Given the description of an element on the screen output the (x, y) to click on. 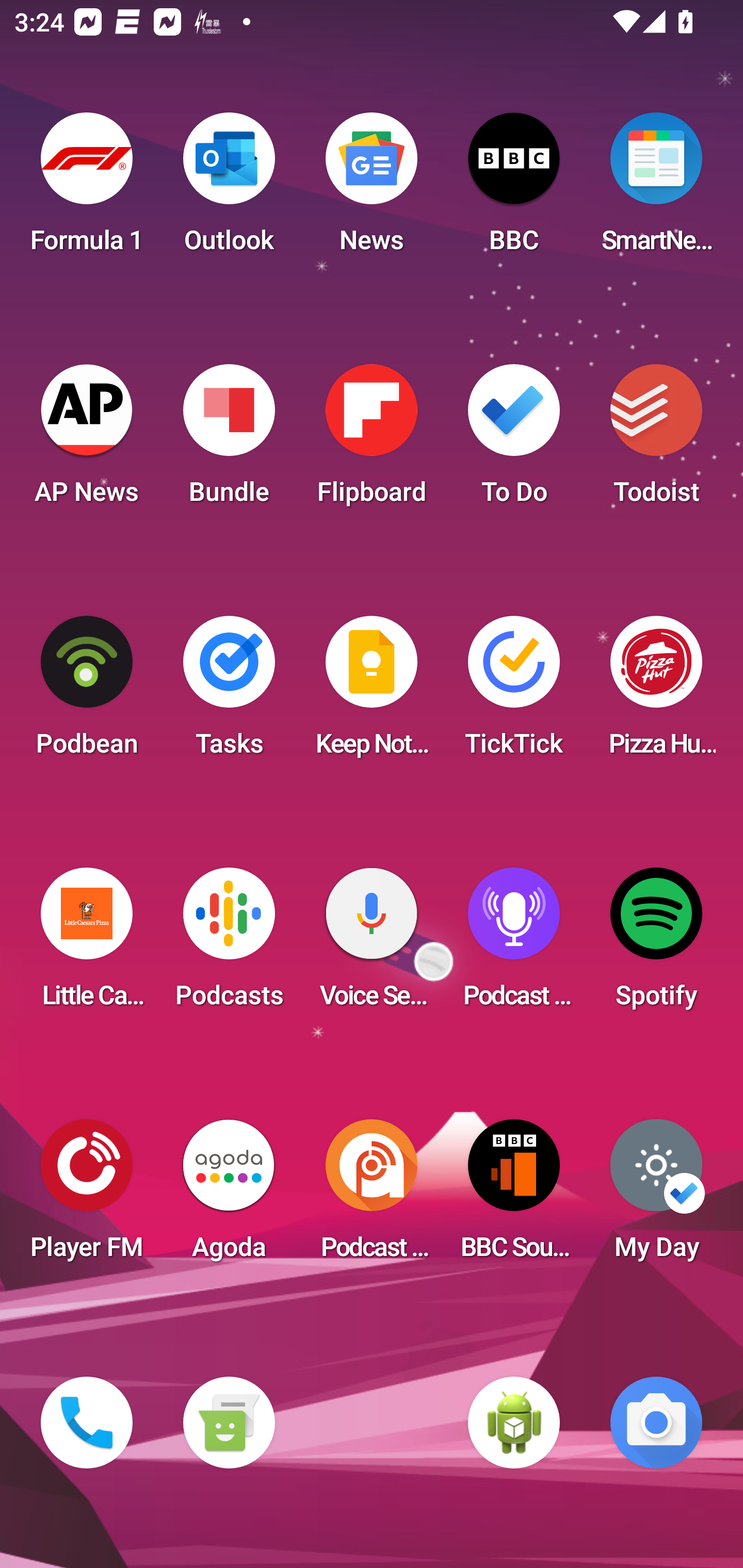
Formula 1 (86, 188)
Outlook (228, 188)
News (371, 188)
BBC (513, 188)
SmartNews (656, 188)
AP News (86, 440)
Bundle (228, 440)
Flipboard (371, 440)
To Do (513, 440)
Todoist (656, 440)
Podbean (86, 692)
Tasks (228, 692)
Keep Notes (371, 692)
TickTick (513, 692)
Pizza Hut HK & Macau (656, 692)
Little Caesars Pizza (86, 943)
Podcasts (228, 943)
Voice Search (371, 943)
Podcast Player (513, 943)
Spotify (656, 943)
Player FM (86, 1195)
Agoda (228, 1195)
Podcast Addict (371, 1195)
BBC Sounds (513, 1195)
My Day (656, 1195)
Phone (86, 1422)
Messaging (228, 1422)
WebView Browser Tester (513, 1422)
Camera (656, 1422)
